Given the description of an element on the screen output the (x, y) to click on. 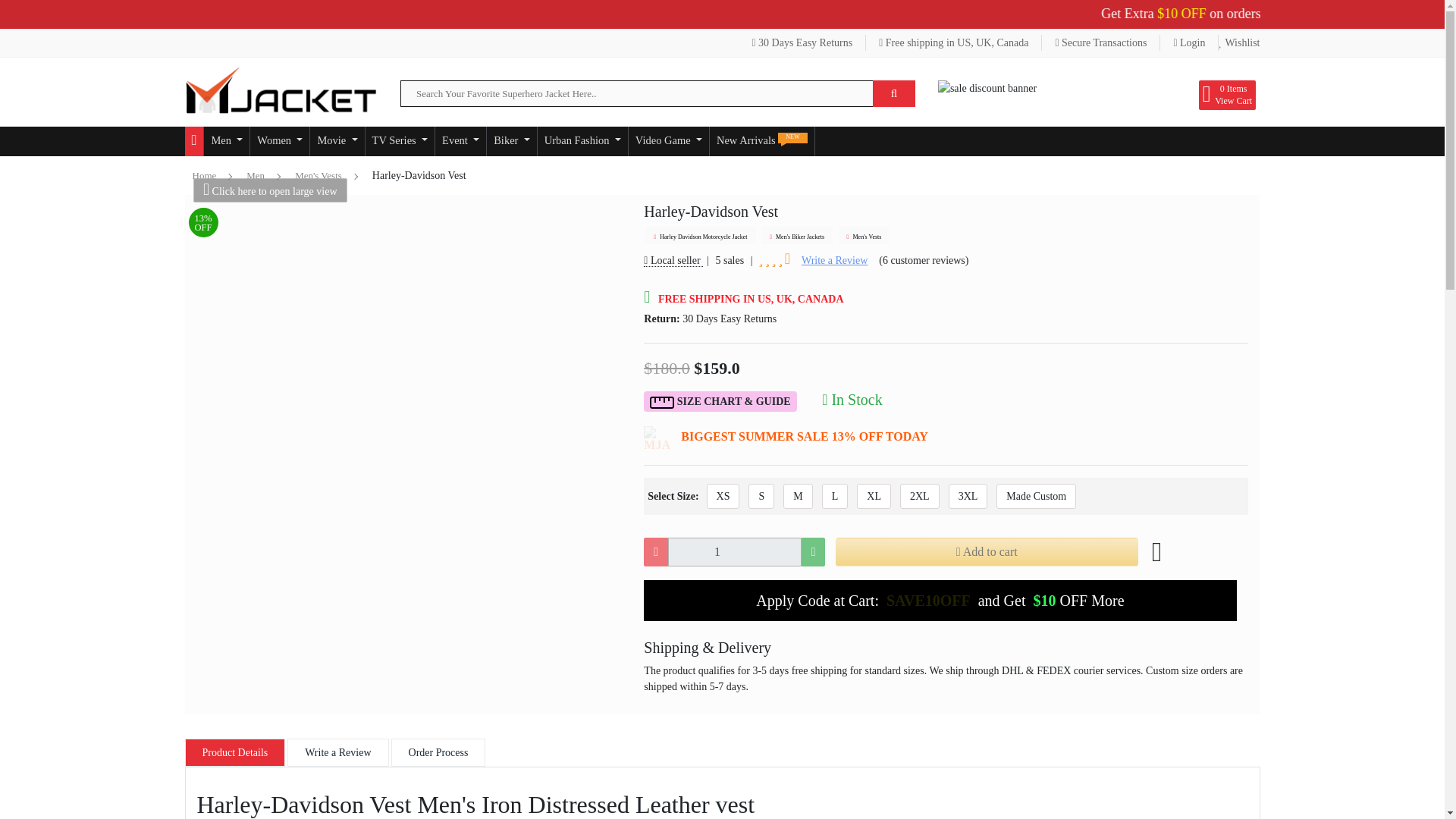
Men (225, 140)
Biker (511, 140)
Free shipping in US, UK, Canada (954, 42)
Wishlist (1238, 42)
Home (193, 141)
Women (279, 140)
Register or Login (1189, 42)
30 Days Easy Returns (802, 42)
Secure Transactions (1101, 42)
Women (279, 140)
Event (460, 140)
Register or Login (1101, 42)
30 Days Easy Returns (802, 42)
Urban Fashion (582, 140)
1 (734, 551)
